Given the description of an element on the screen output the (x, y) to click on. 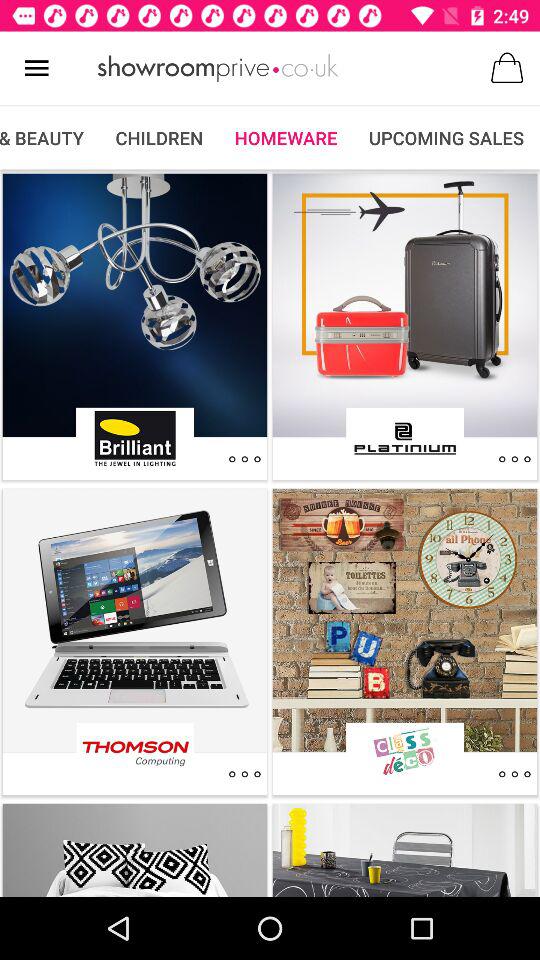
see more options (244, 459)
